Given the description of an element on the screen output the (x, y) to click on. 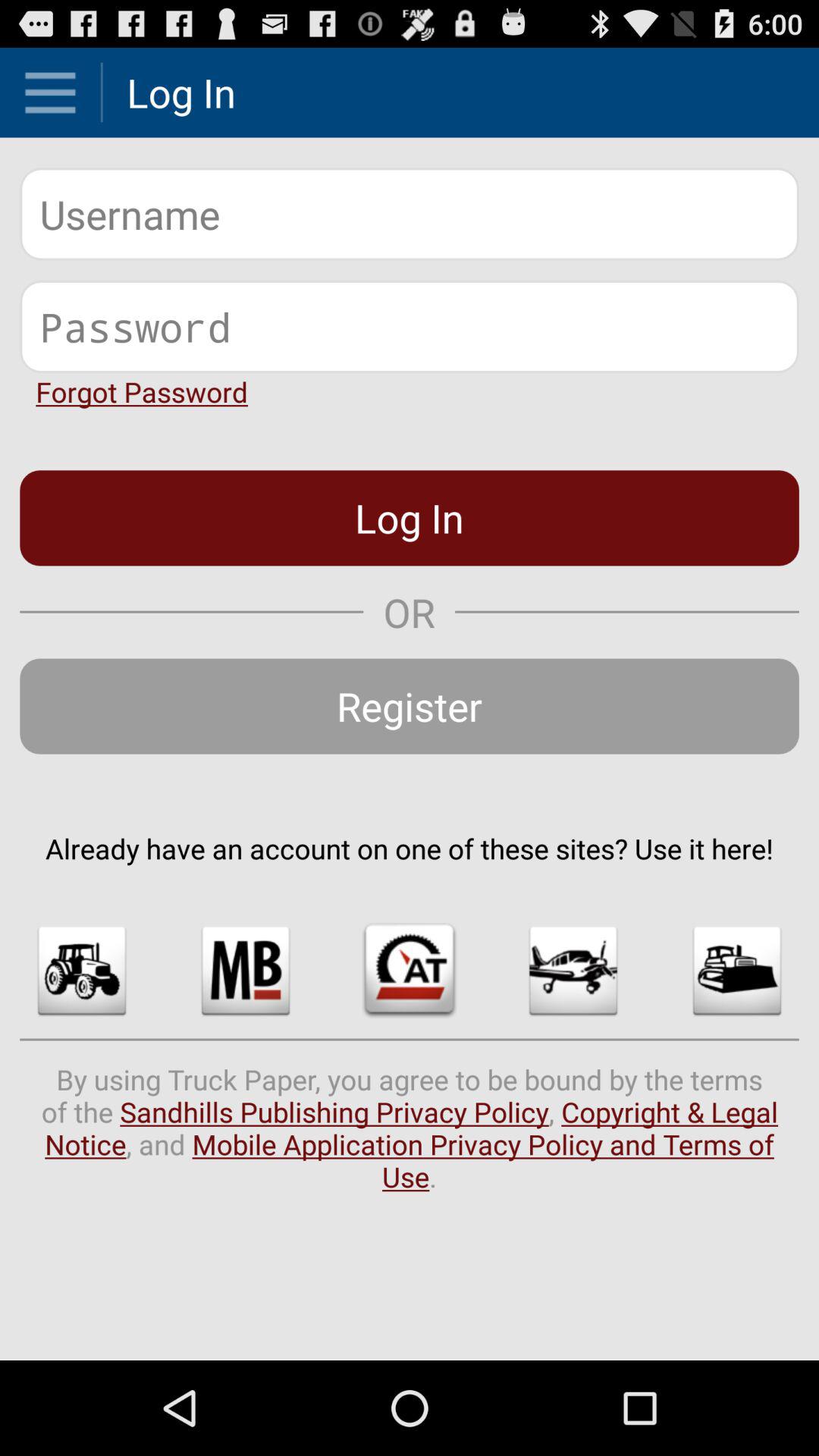
tap the forgot password (141, 391)
